Given the description of an element on the screen output the (x, y) to click on. 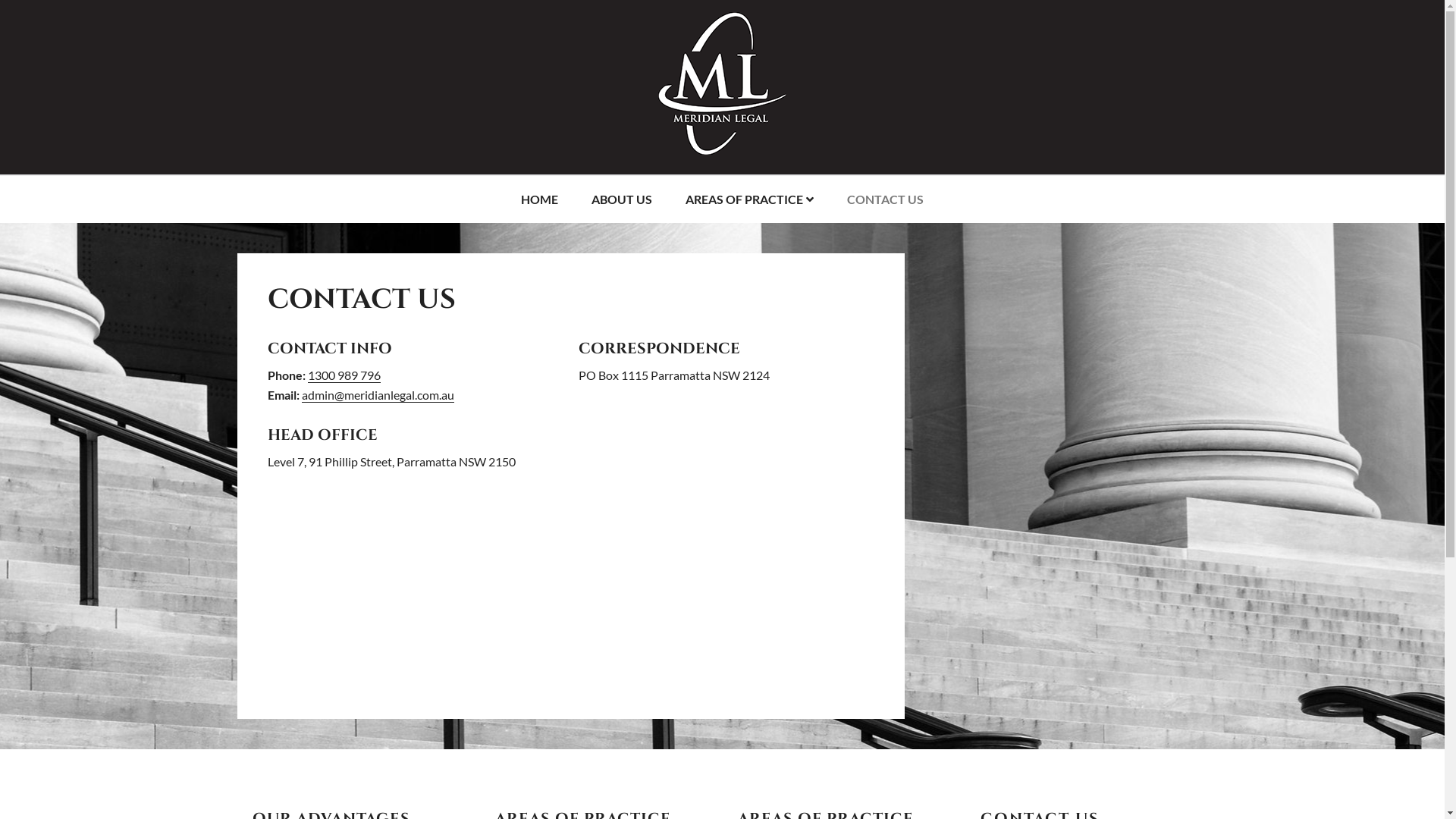
ABOUT US Element type: text (621, 198)
1300 989 796 Element type: text (343, 374)
admin@meridianlegal.com.au Element type: text (377, 394)
Meridian Legal Element type: hover (722, 143)
CONTACT US Element type: text (884, 198)
Skip to primary navigation Element type: text (0, 0)
HOME Element type: text (539, 198)
Google Map Element type: hover (569, 587)
AREAS OF PRACTICE Element type: text (749, 198)
